Given the description of an element on the screen output the (x, y) to click on. 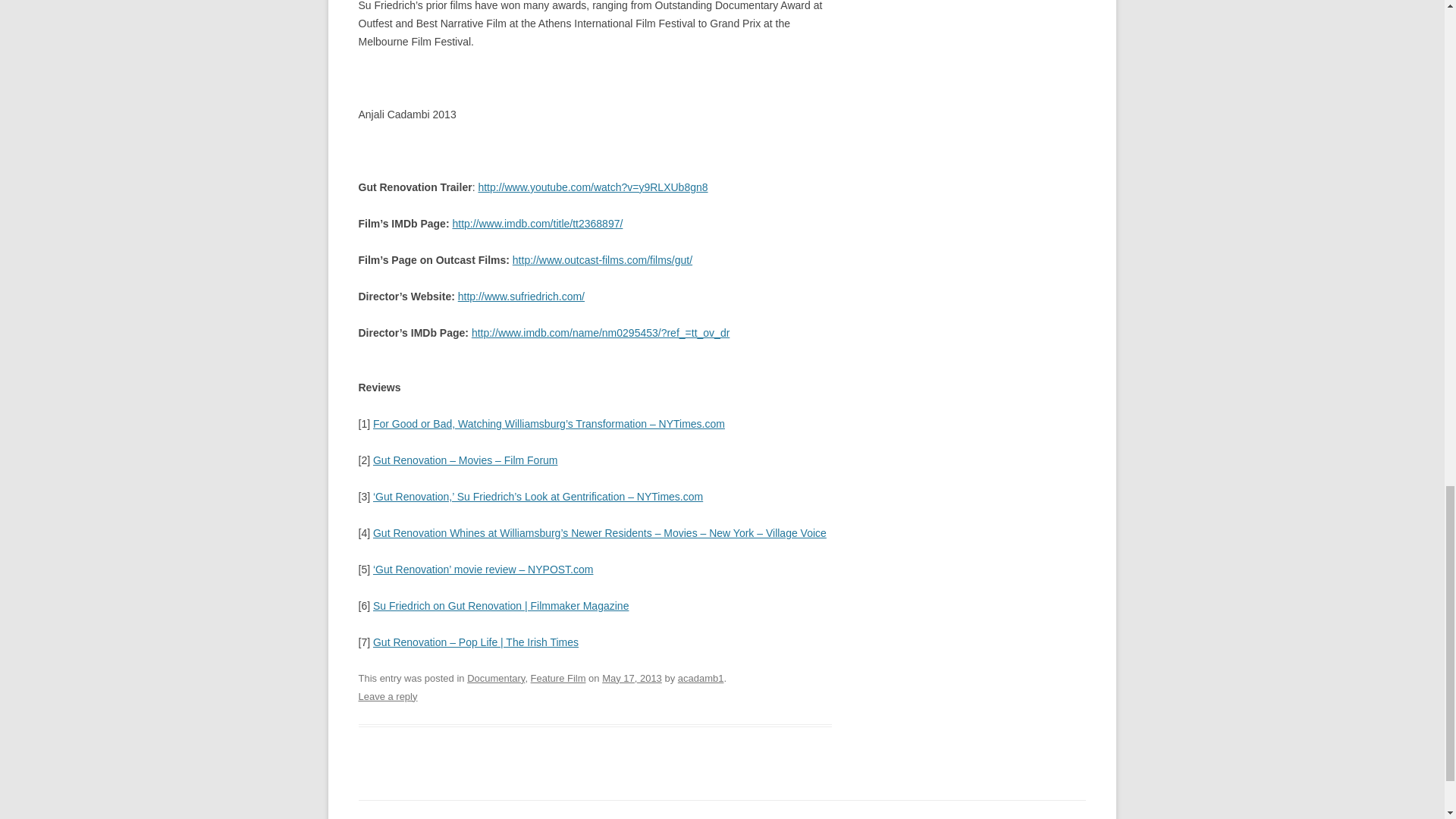
1:05 pm (632, 677)
acadamb1 (700, 677)
Leave a reply (387, 696)
May 17, 2013 (632, 677)
View all posts by acadamb1 (700, 677)
Documentary (495, 677)
Feature Film (558, 677)
